Given the description of an element on the screen output the (x, y) to click on. 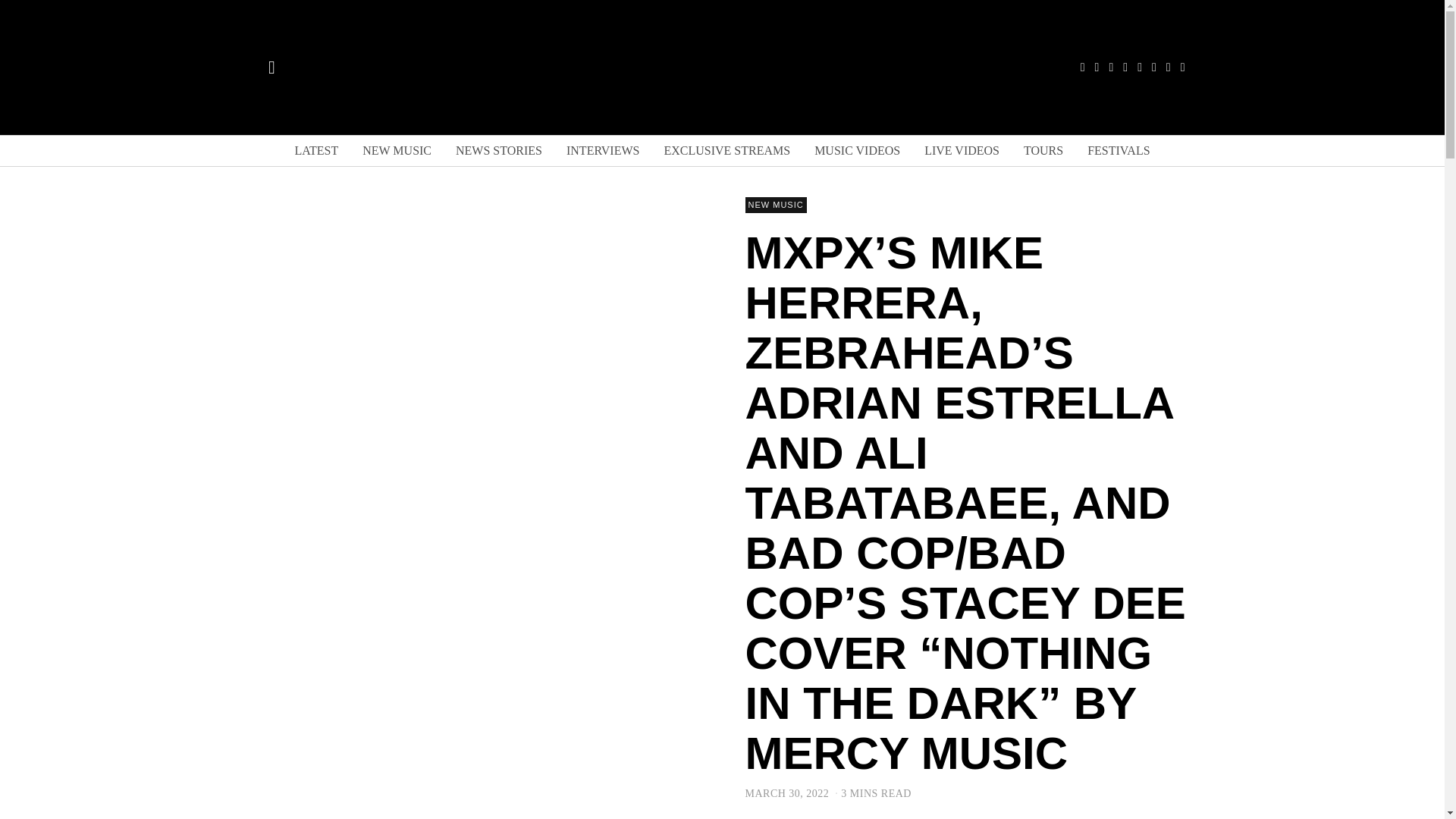
Latest Articles from All Categories (316, 150)
NEWS STORIES (499, 150)
NEW MUSIC (397, 150)
LIVE VIDEOS (962, 150)
LATEST (316, 150)
TOURS (1043, 150)
FESTIVALS (1118, 150)
INTERVIEWS (602, 150)
EXCLUSIVE STREAMS (726, 150)
MUSIC VIDEOS (857, 150)
